Given the description of an element on the screen output the (x, y) to click on. 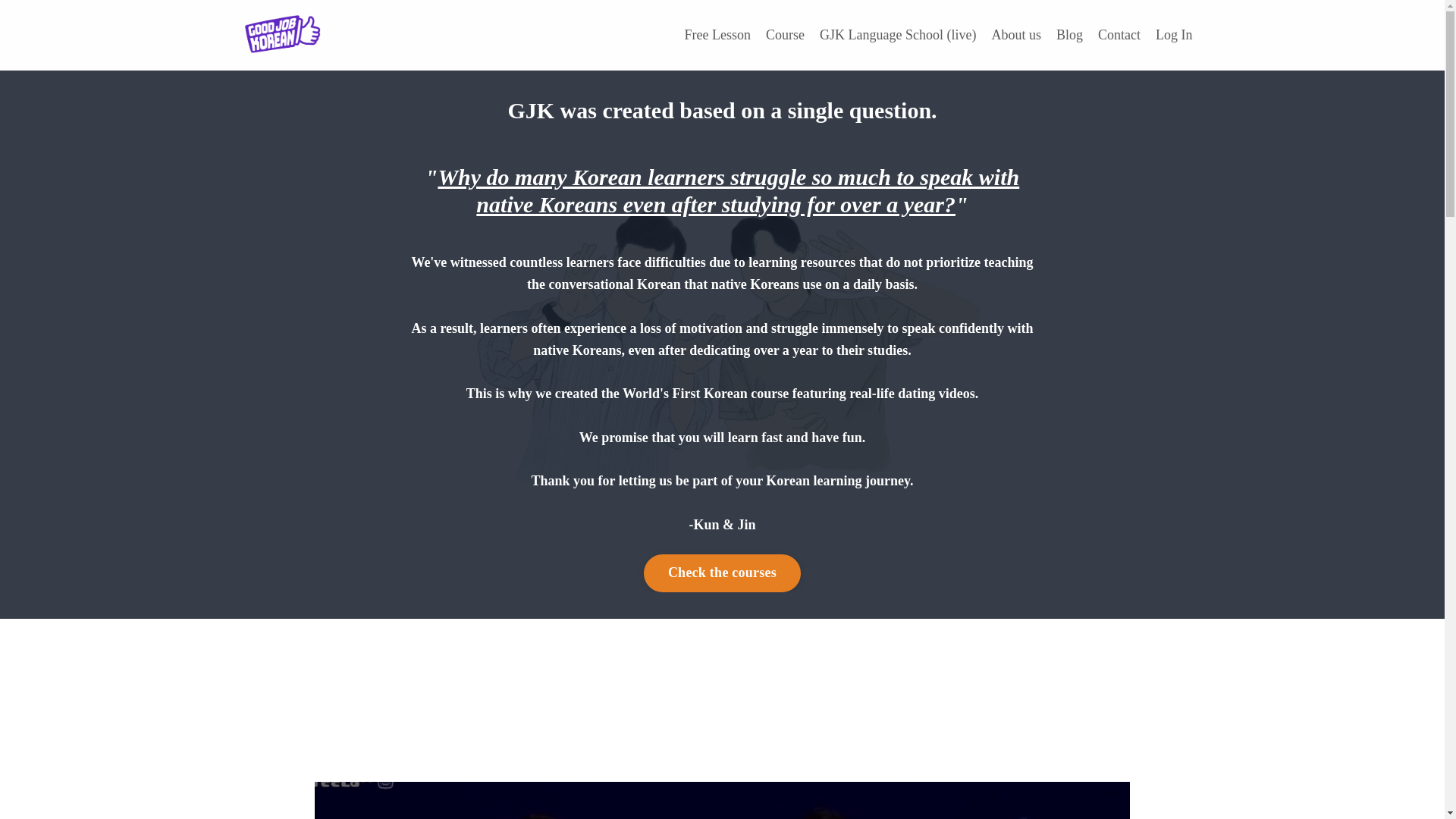
About us (1016, 34)
Blog (1070, 34)
Course (785, 34)
Check the courses (721, 573)
Contact (1118, 34)
Log In (1174, 34)
Free Lesson (717, 34)
